Given the description of an element on the screen output the (x, y) to click on. 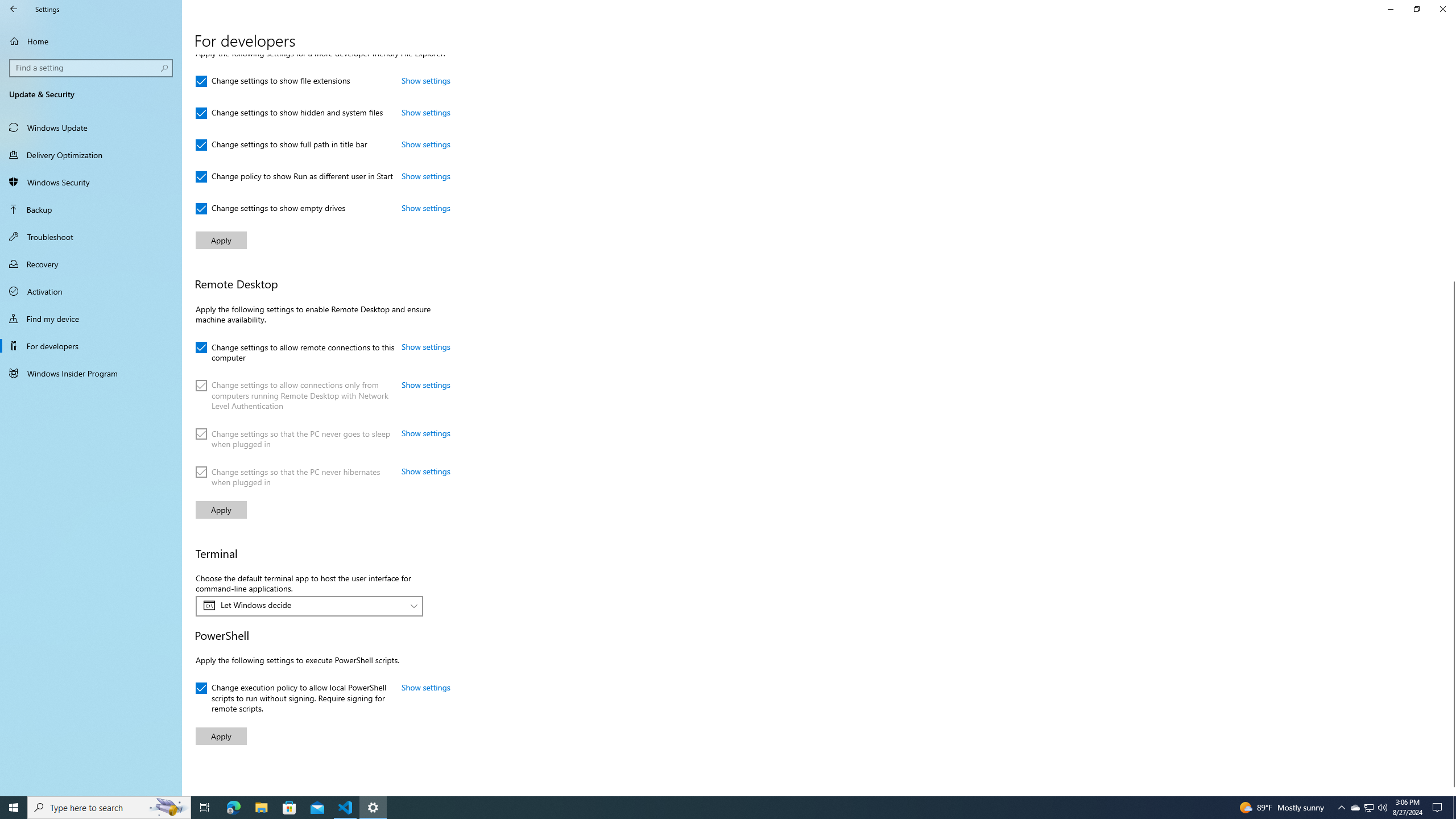
Vertical Small Decrease (1451, 58)
Start (13, 807)
Windows Insider Program (91, 372)
Apply (221, 736)
Change settings to show file extensions (272, 81)
Show settings: Change settings to show file extensions (425, 80)
Notification Chevron (1341, 807)
Search box, Find a setting (91, 67)
Delivery Optimization (91, 154)
Let Windows decide (303, 605)
Restore Settings (1416, 9)
Change settings to allow remote connections to this computer (294, 350)
Type here to search (108, 807)
